Given the description of an element on the screen output the (x, y) to click on. 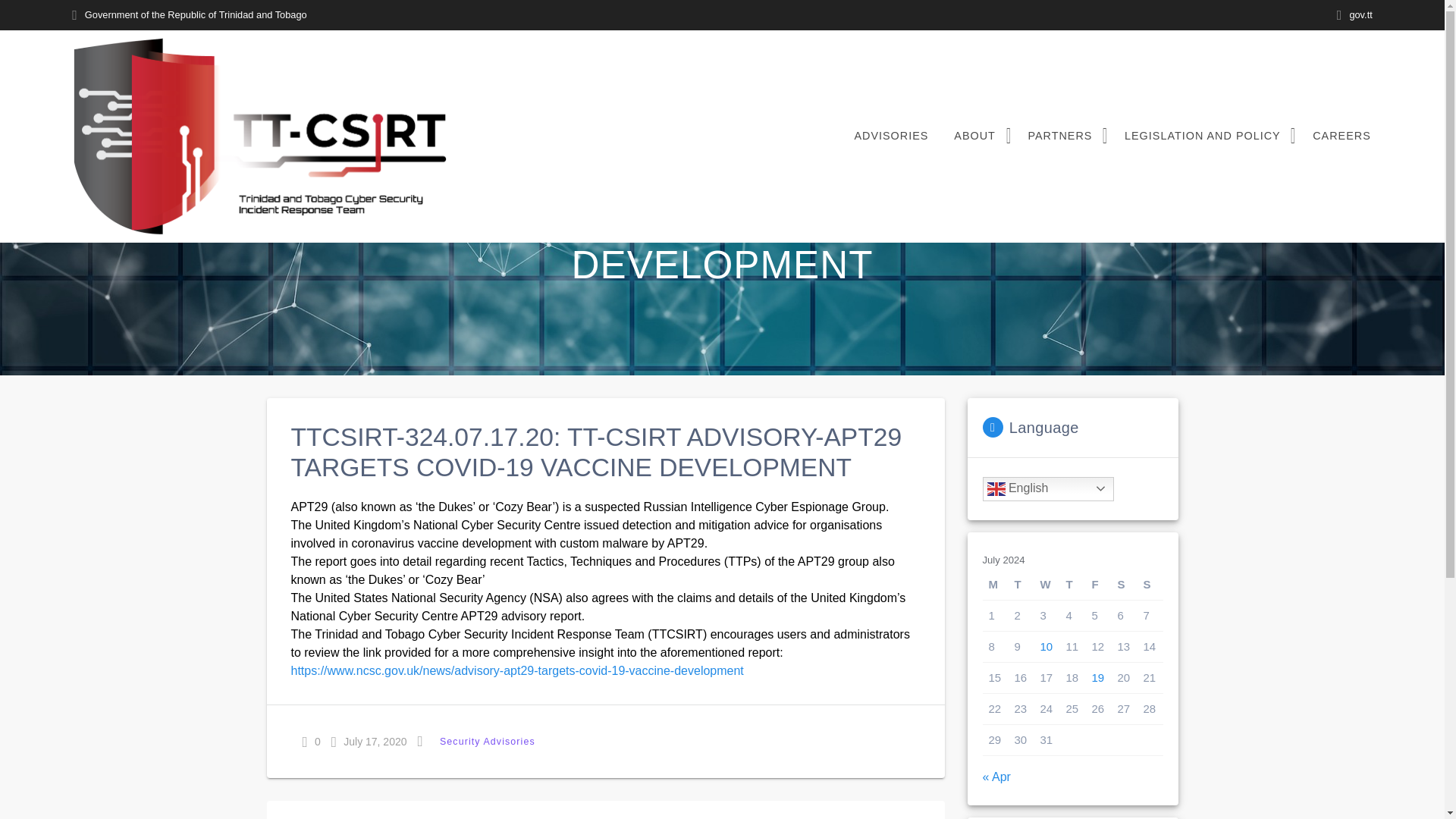
ADVISORIES (890, 135)
Security Advisories (487, 741)
0 (310, 741)
English (1047, 488)
July 17, 2020 (369, 741)
PARTNERS (1062, 135)
19 (1098, 676)
LEGISLATION AND POLICY (1206, 135)
CAREERS (1341, 135)
10 (1046, 645)
ABOUT (977, 135)
